Given the description of an element on the screen output the (x, y) to click on. 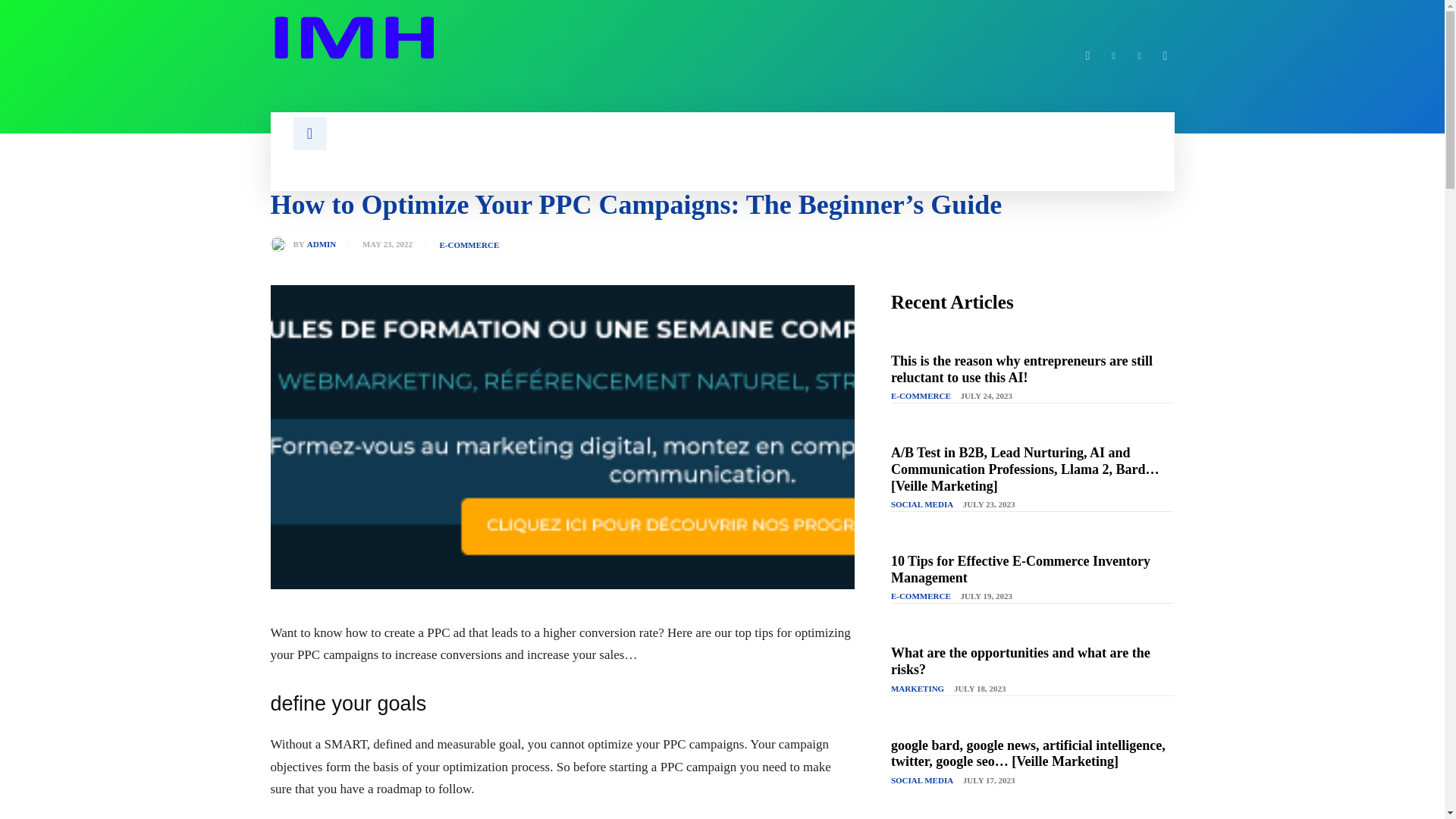
Facebook (1087, 55)
ADMIN (321, 244)
admin (280, 243)
Linkedin (1112, 55)
Youtube (1164, 55)
E-COMMERCE (469, 244)
Twitter (1138, 55)
